Given the description of an element on the screen output the (x, y) to click on. 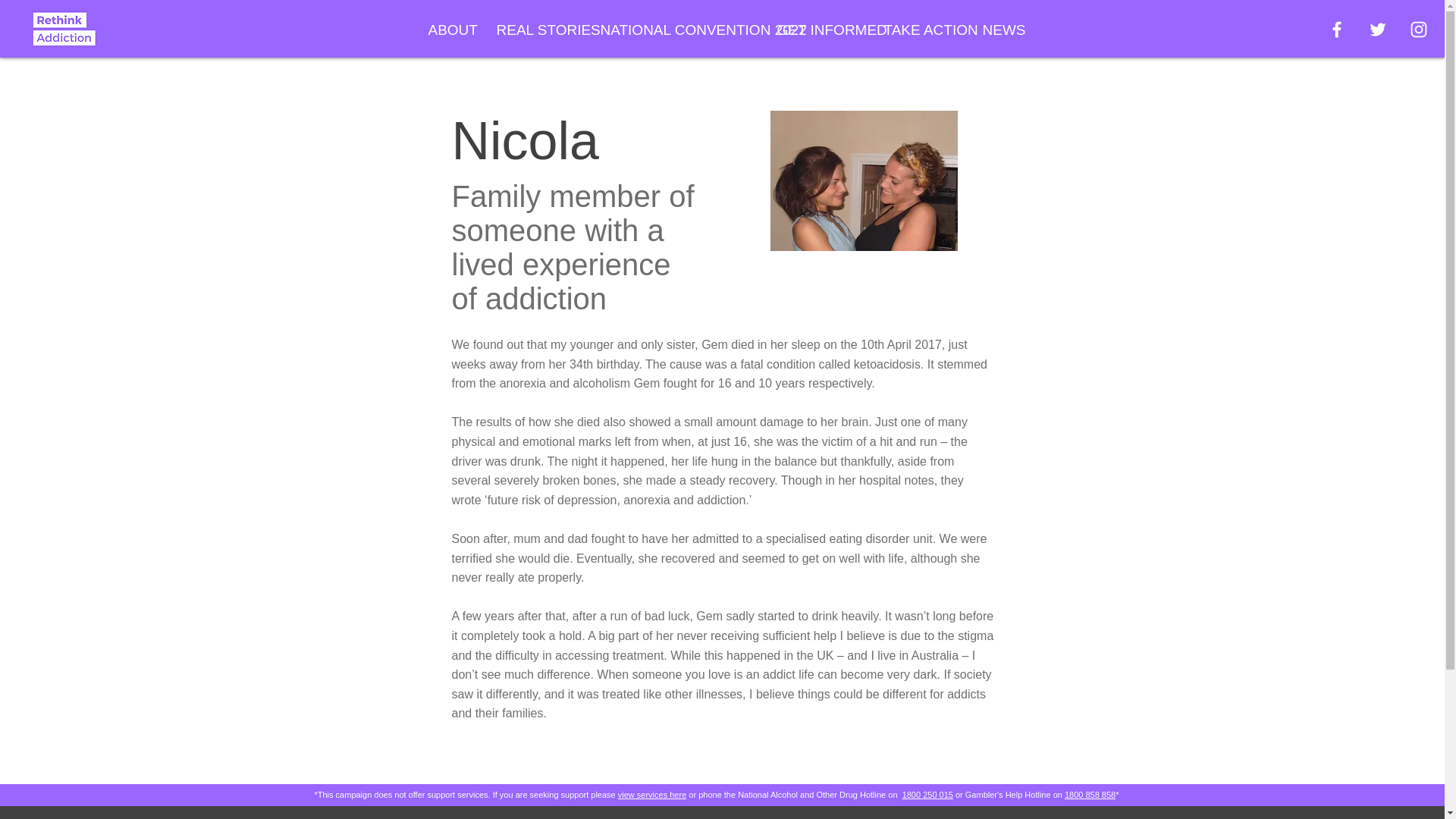
1800 250 015 (927, 794)
GET INFORMED (818, 30)
REAL STORIES (536, 30)
ABOUT (450, 30)
Nicola (863, 180)
NEWS (1001, 30)
view services here (651, 794)
TAKE ACTION (921, 30)
NATIONAL CONVENTION 2022 (676, 30)
1800 858 858 (1089, 794)
